Given the description of an element on the screen output the (x, y) to click on. 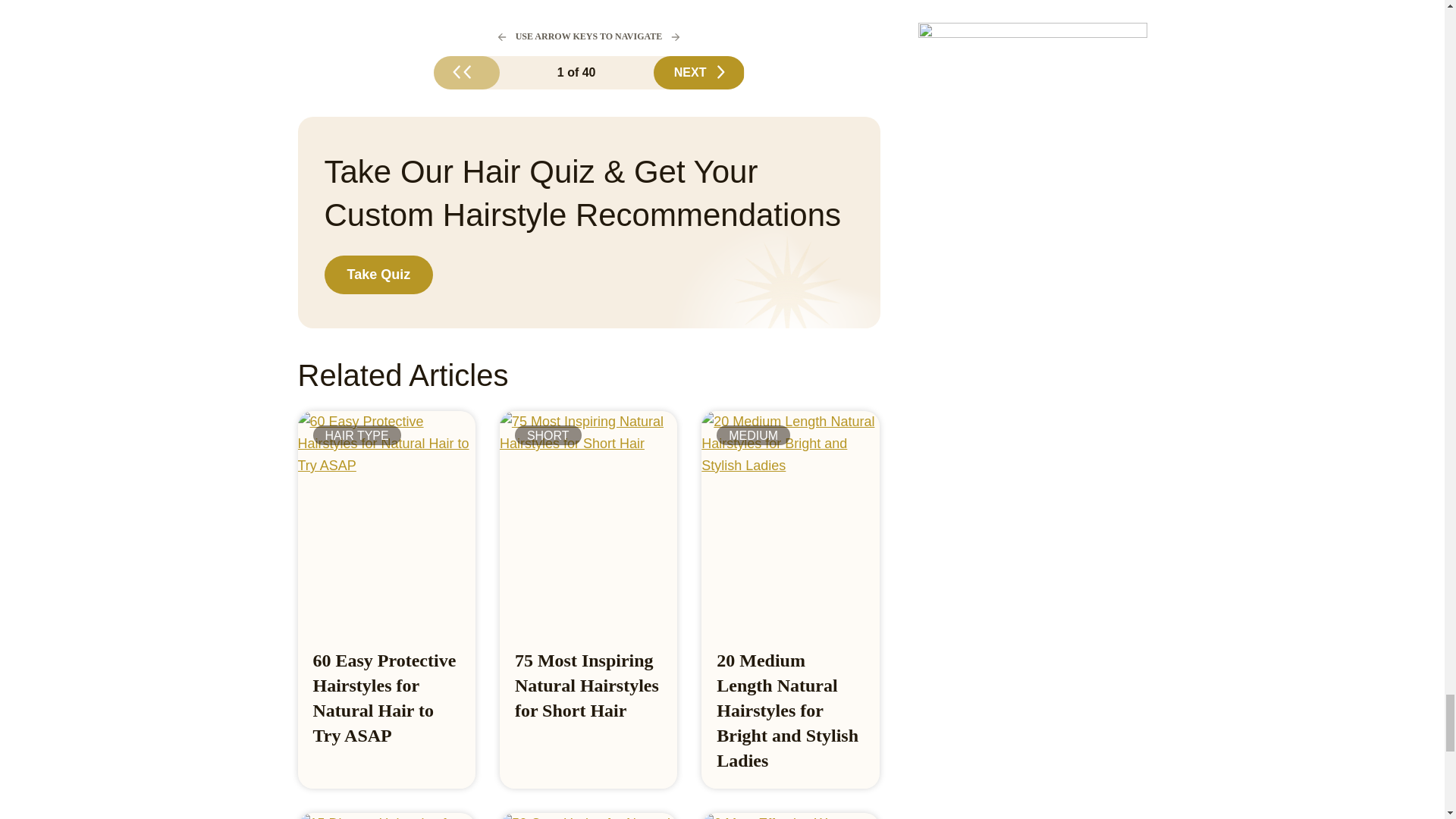
Short (547, 435)
60 Easy Protective Hairstyles for Natural Hair to Try ASAP (384, 697)
NEXT (698, 72)
75 Most Inspiring Natural Hairstyles for Short Hair (587, 685)
Hair Type (356, 435)
6 Most Effective Ways to Prevent Shrinkage in Natural Hair (790, 816)
Medium (753, 435)
Take Quiz (378, 274)
50 Cute Updos for Natural Hair (588, 816)
60 Easy Protective Hairstyles for Natural Hair to Try ASAP (384, 697)
15 Diverse Hairstyles for Long Natural Hair (385, 816)
